Given the description of an element on the screen output the (x, y) to click on. 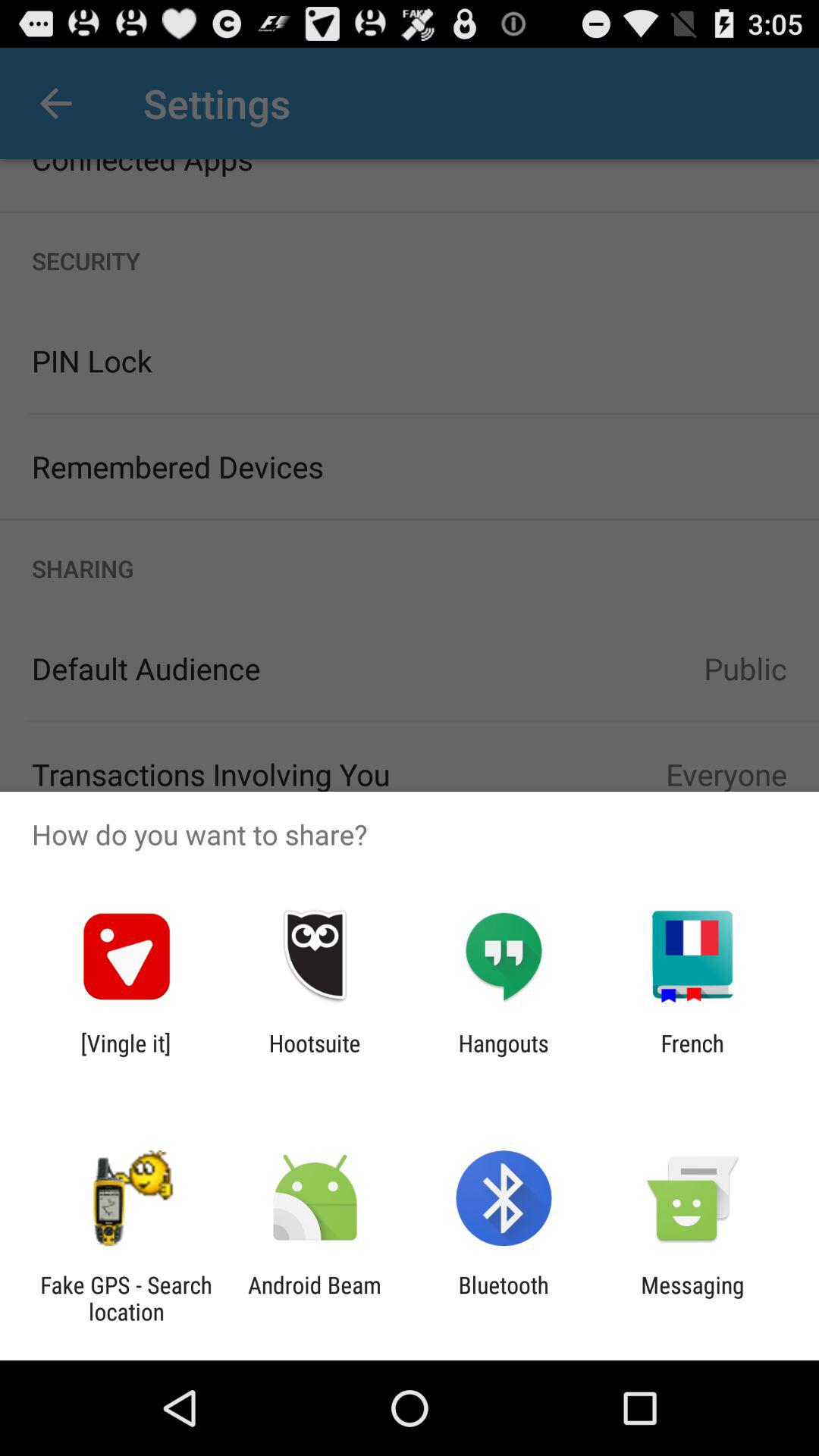
open the app next to fake gps search app (314, 1298)
